Given the description of an element on the screen output the (x, y) to click on. 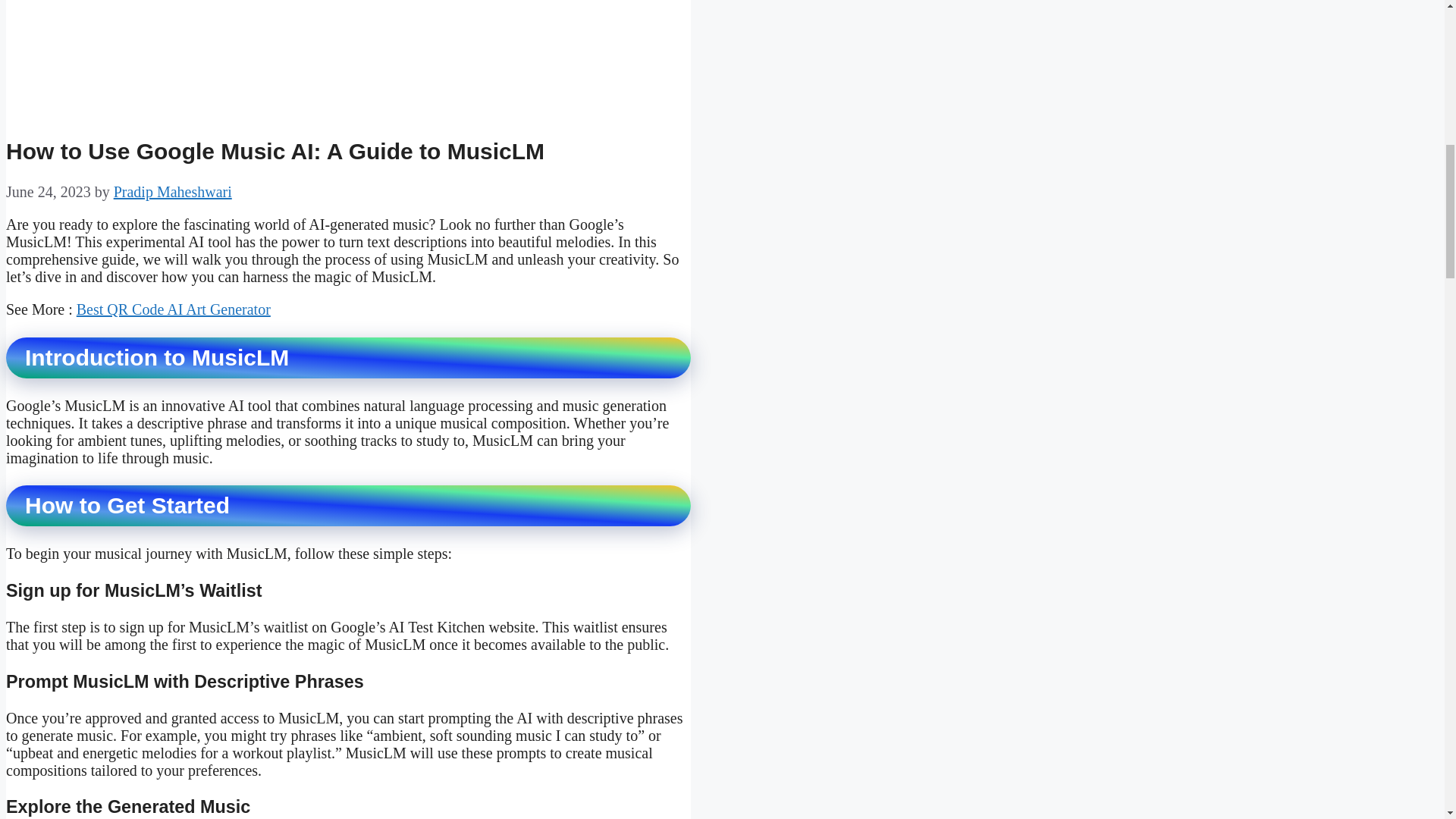
Best QR Code AI Art Generator (173, 309)
View all posts by Pradip Maheshwari (172, 191)
Pradip Maheshwari (172, 191)
Scroll back to top (1406, 720)
